Given the description of an element on the screen output the (x, y) to click on. 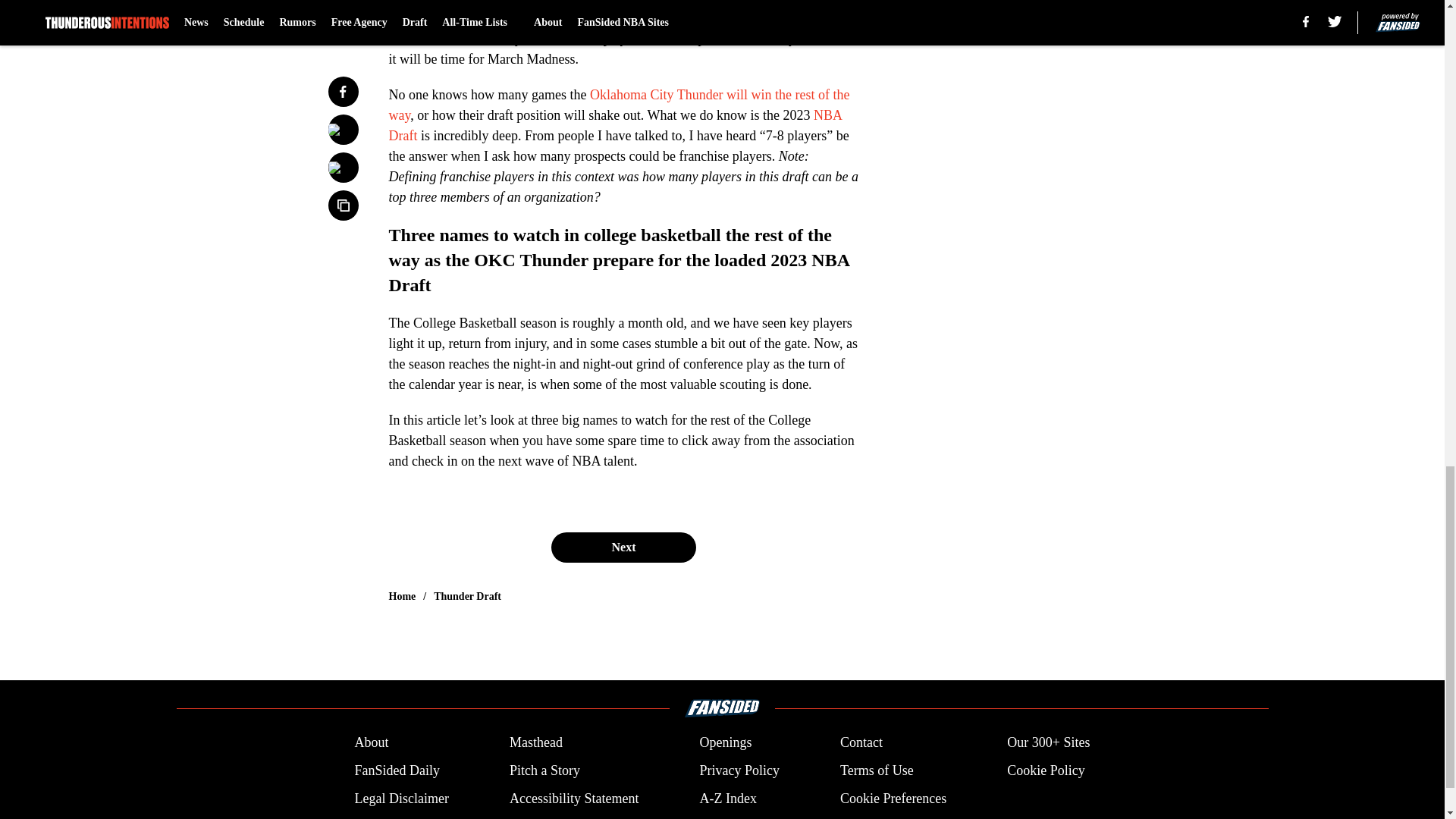
Terms of Use (877, 770)
Openings (724, 742)
Next (622, 547)
Pitch a Story (544, 770)
NBA Draft (614, 125)
Thunder Draft (466, 596)
About (370, 742)
Privacy Policy (738, 770)
Contact (861, 742)
Masthead (535, 742)
Home (401, 596)
Oklahoma City Thunder will win the rest of the way (618, 104)
FanSided Daily (396, 770)
